Given the description of an element on the screen output the (x, y) to click on. 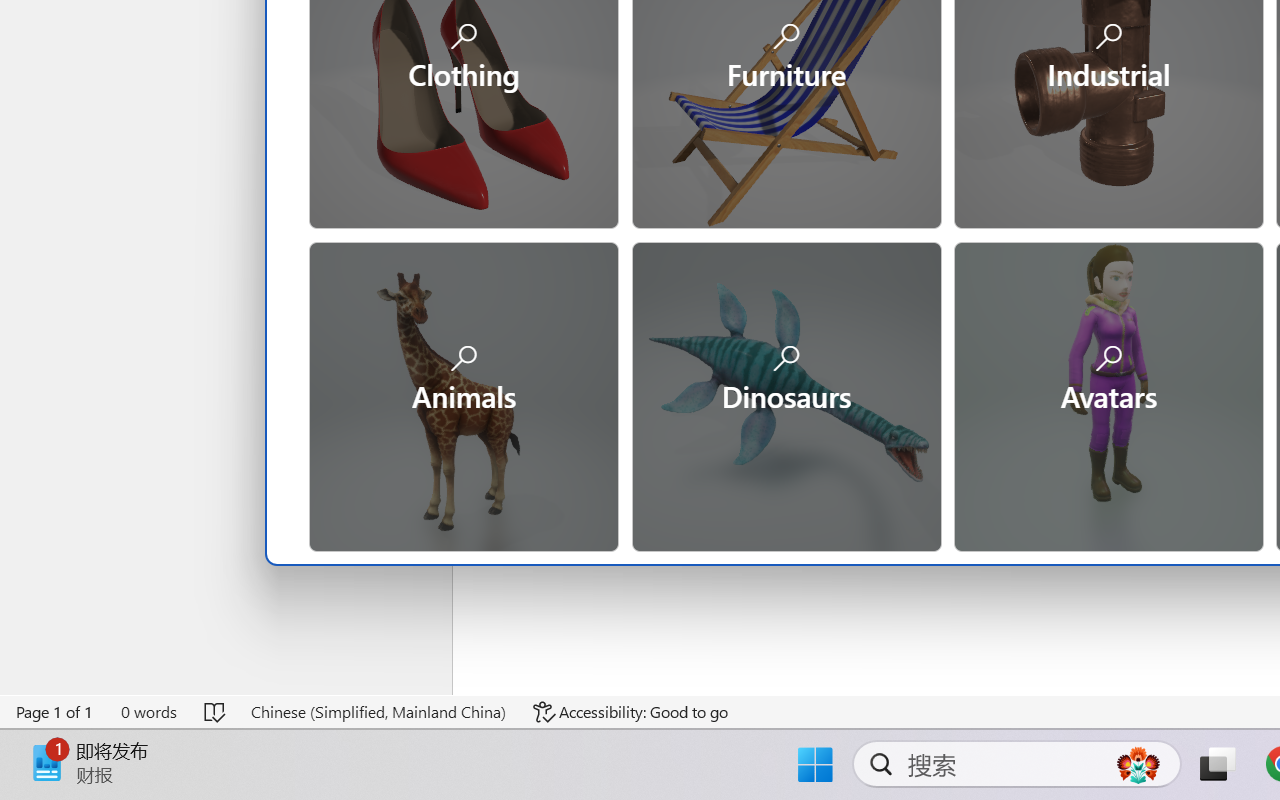
Dinosaurs (785, 394)
Animals (463, 394)
Avatars (1107, 394)
Language Chinese (Simplified, Mainland China) (378, 712)
